Given the description of an element on the screen output the (x, y) to click on. 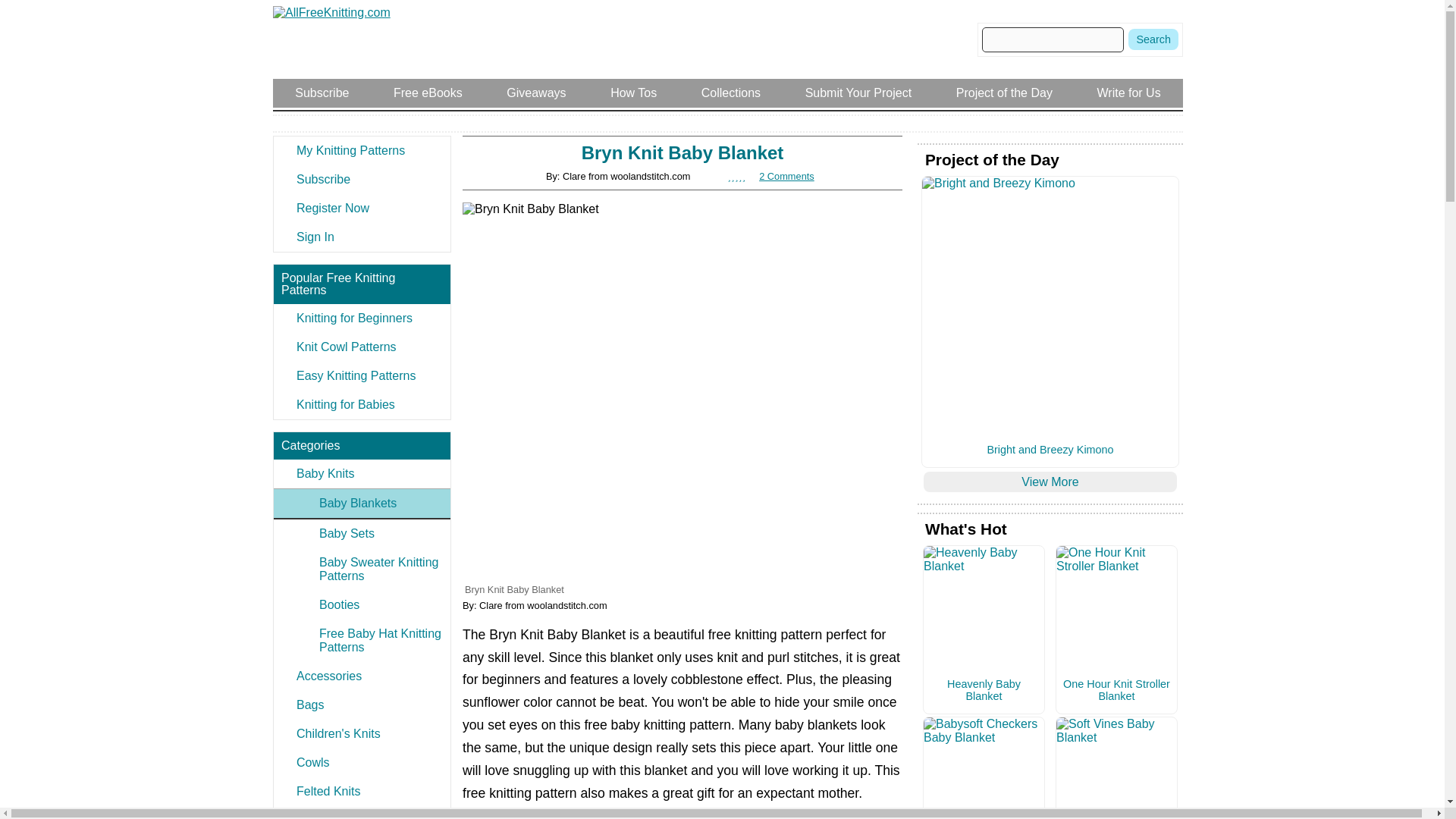
Subscribe (361, 179)
My Knitting Patterns (361, 150)
Search (1152, 38)
Sign In (361, 236)
Register Now (361, 208)
